Given the description of an element on the screen output the (x, y) to click on. 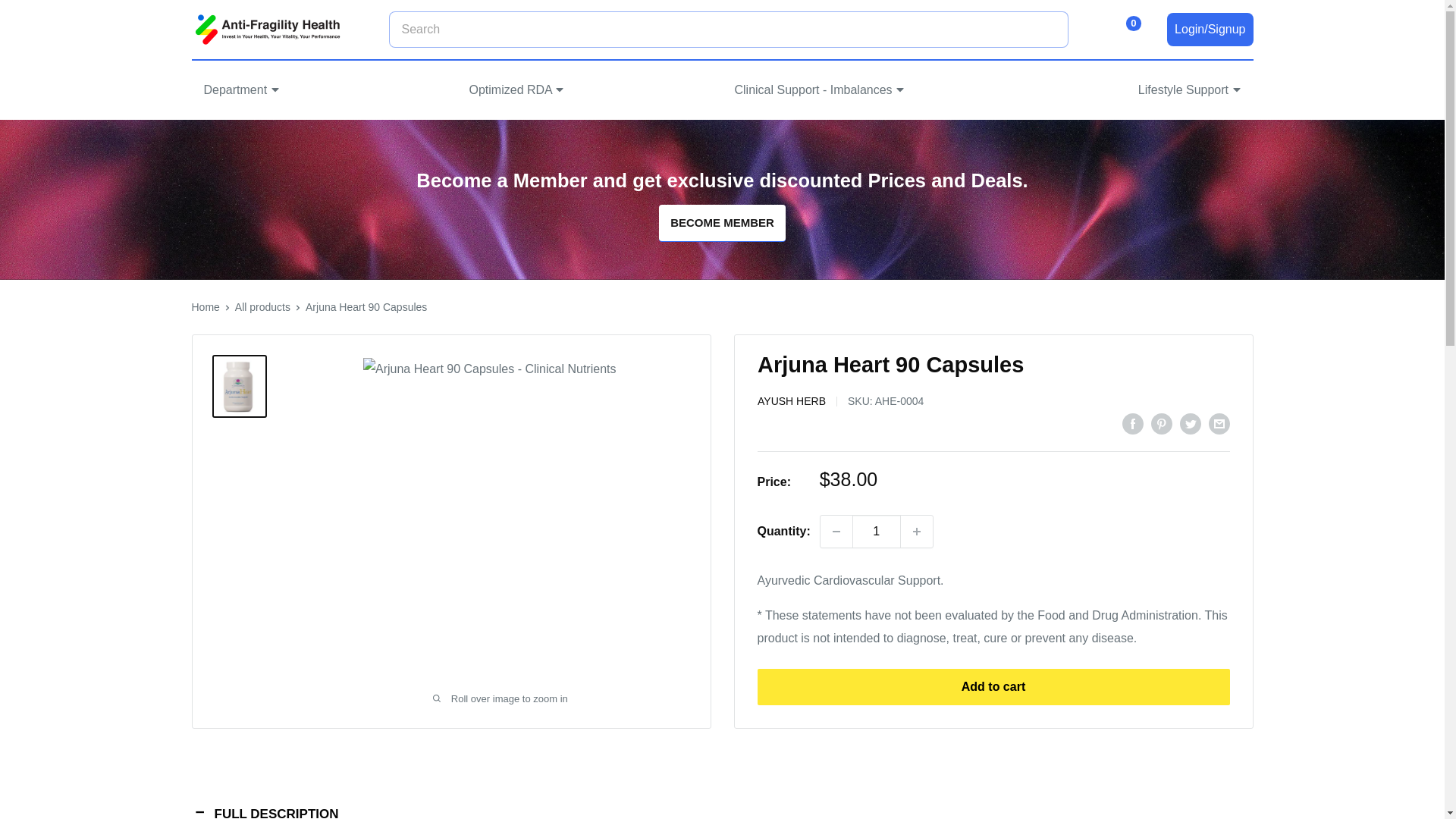
Decrease quantity by 1 (836, 531)
Increase quantity by 1 (917, 531)
1 (876, 531)
